Given the description of an element on the screen output the (x, y) to click on. 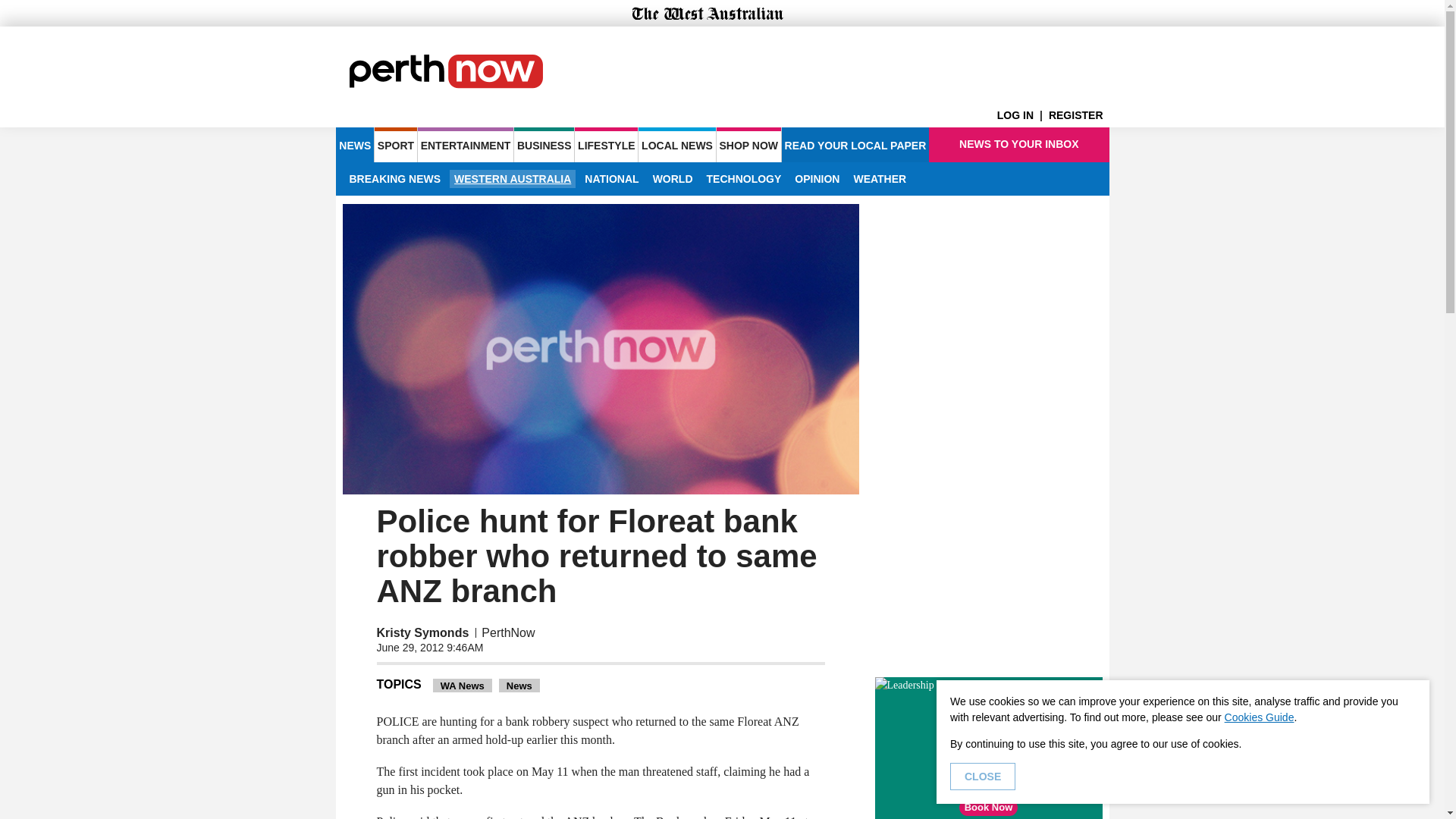
LOG IN (1022, 115)
ENTERTAINMENT (465, 144)
SPORT (395, 144)
NEWS (354, 144)
REGISTER (1078, 115)
